Given the description of an element on the screen output the (x, y) to click on. 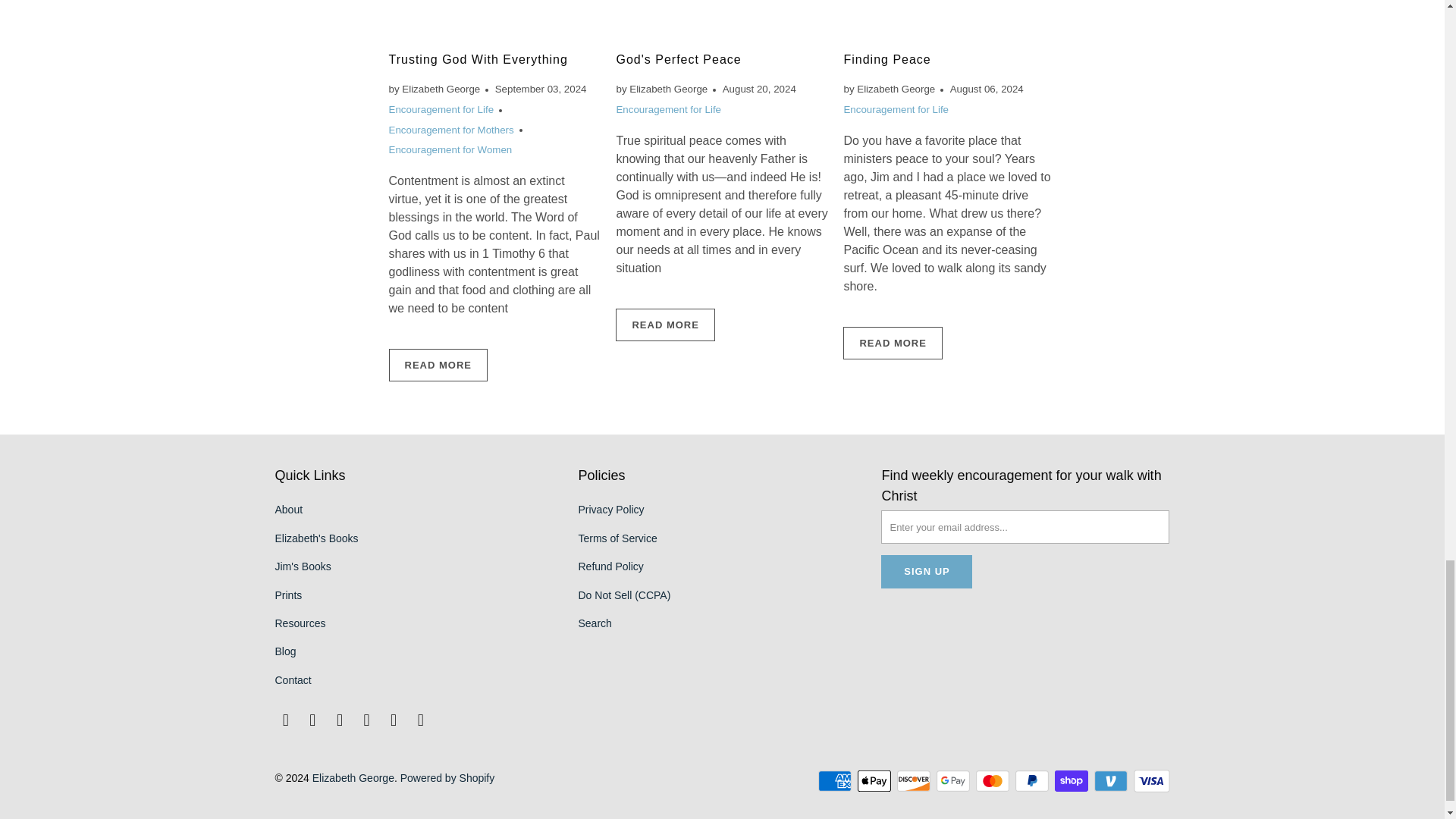
Apple Pay (875, 780)
Visa (1150, 780)
Sign Up (926, 571)
American Express (836, 780)
Discover (914, 780)
Mastercard (993, 780)
Shop Pay (1072, 780)
PayPal (1032, 780)
Venmo (1112, 780)
Google Pay (954, 780)
